Given the description of an element on the screen output the (x, y) to click on. 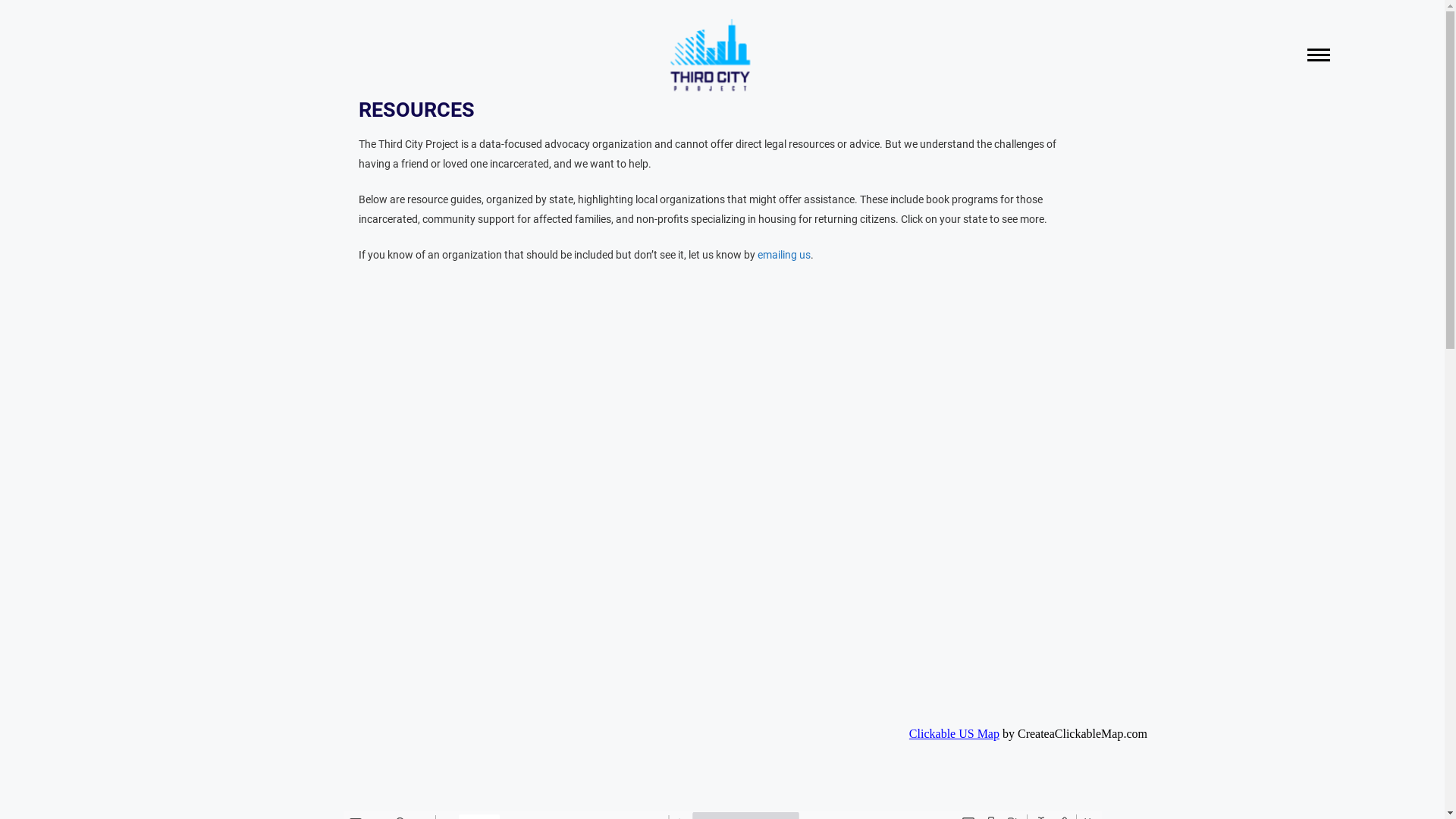
emailing us Element type: text (782, 254)
